Given the description of an element on the screen output the (x, y) to click on. 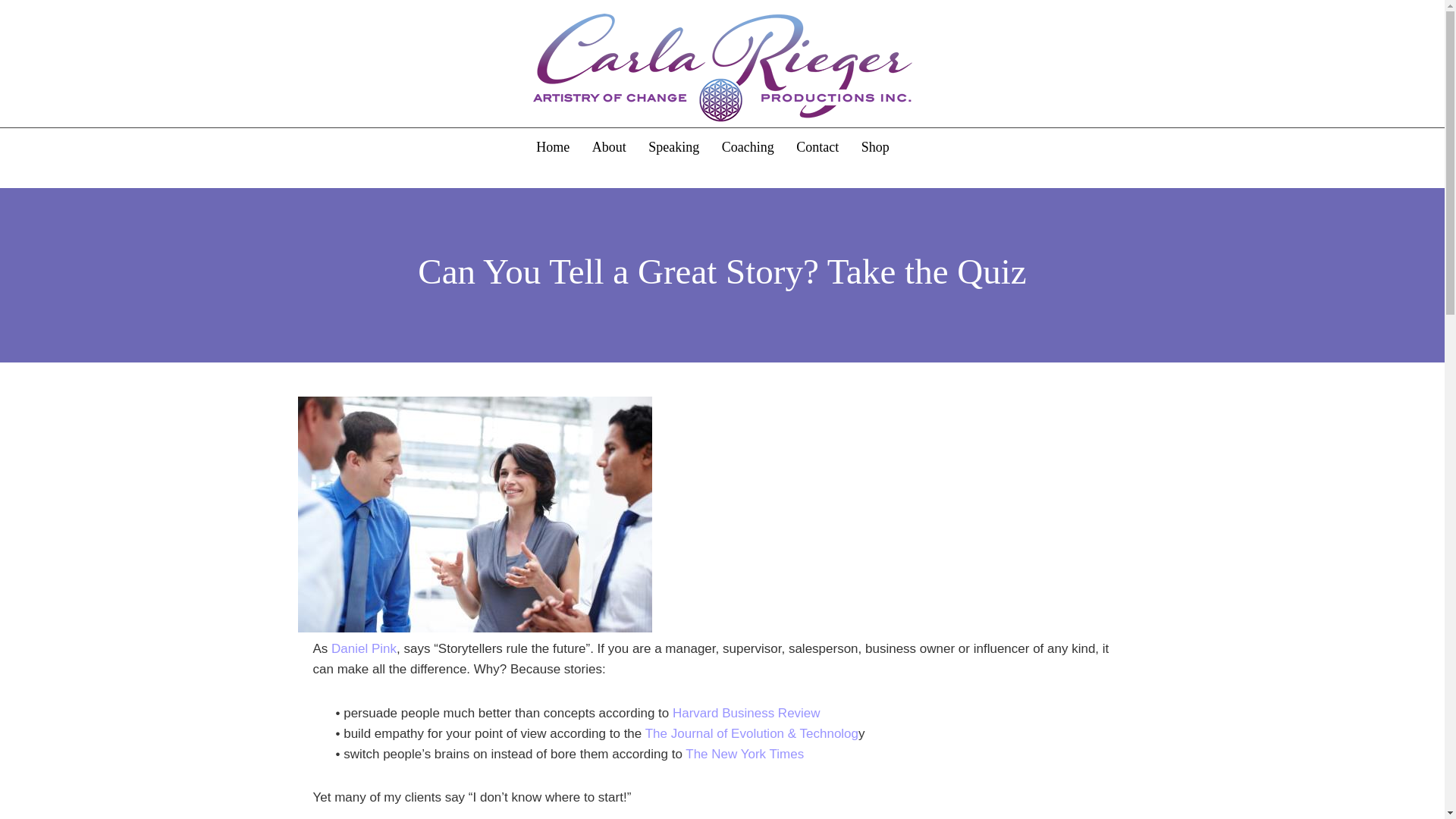
Coaching (748, 147)
About (609, 147)
Home (552, 147)
Shop (875, 147)
Contact (817, 147)
Harvard Business Review (746, 712)
Storytelling in a small group (473, 514)
The New York Times (744, 753)
Daniel Pink (363, 648)
Speaking (672, 147)
